Given the description of an element on the screen output the (x, y) to click on. 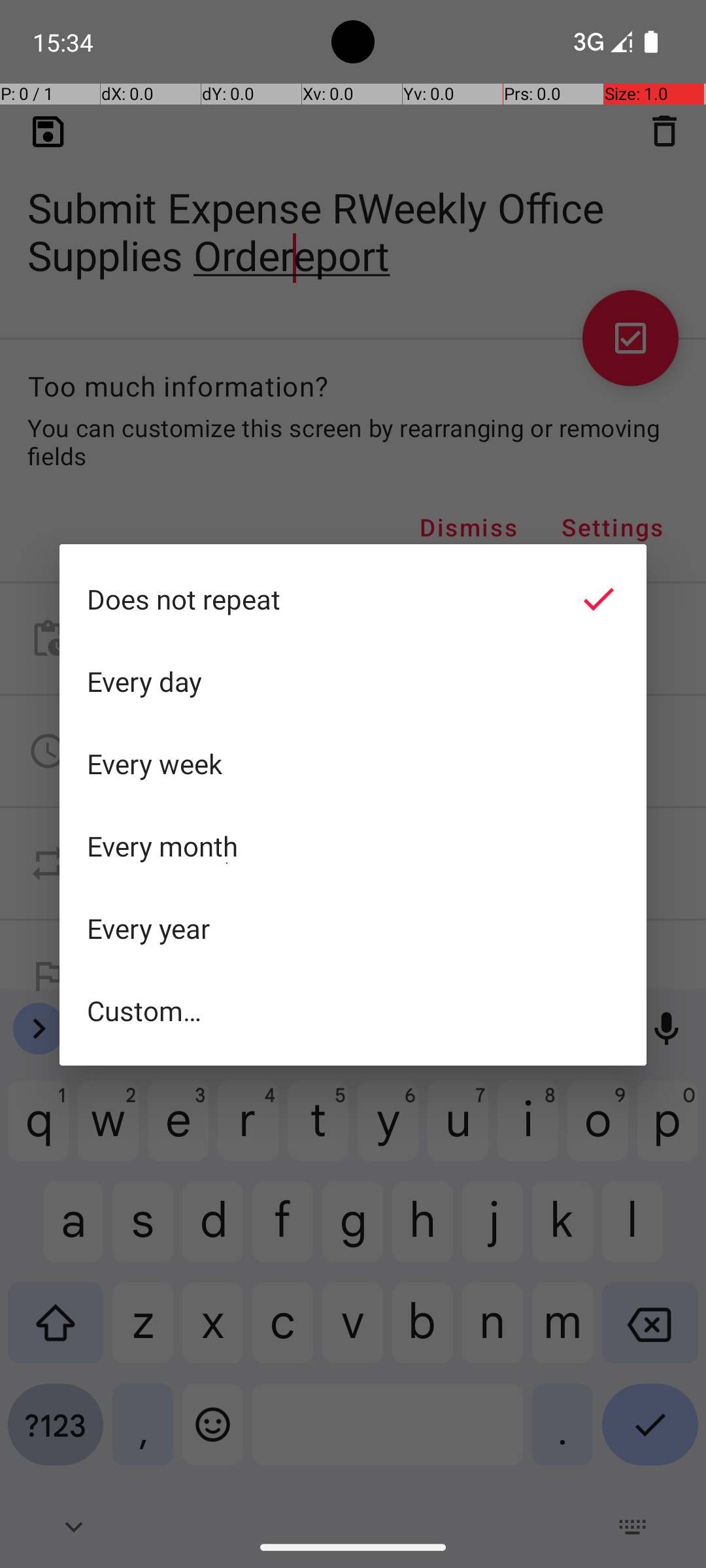
Every day Element type: android.widget.CheckedTextView (352, 681)
Every week Element type: android.widget.CheckedTextView (352, 763)
Every month Element type: android.widget.CheckedTextView (352, 845)
Every year Element type: android.widget.CheckedTextView (352, 928)
Custom… Element type: android.widget.CheckedTextView (352, 1010)
